Given the description of an element on the screen output the (x, y) to click on. 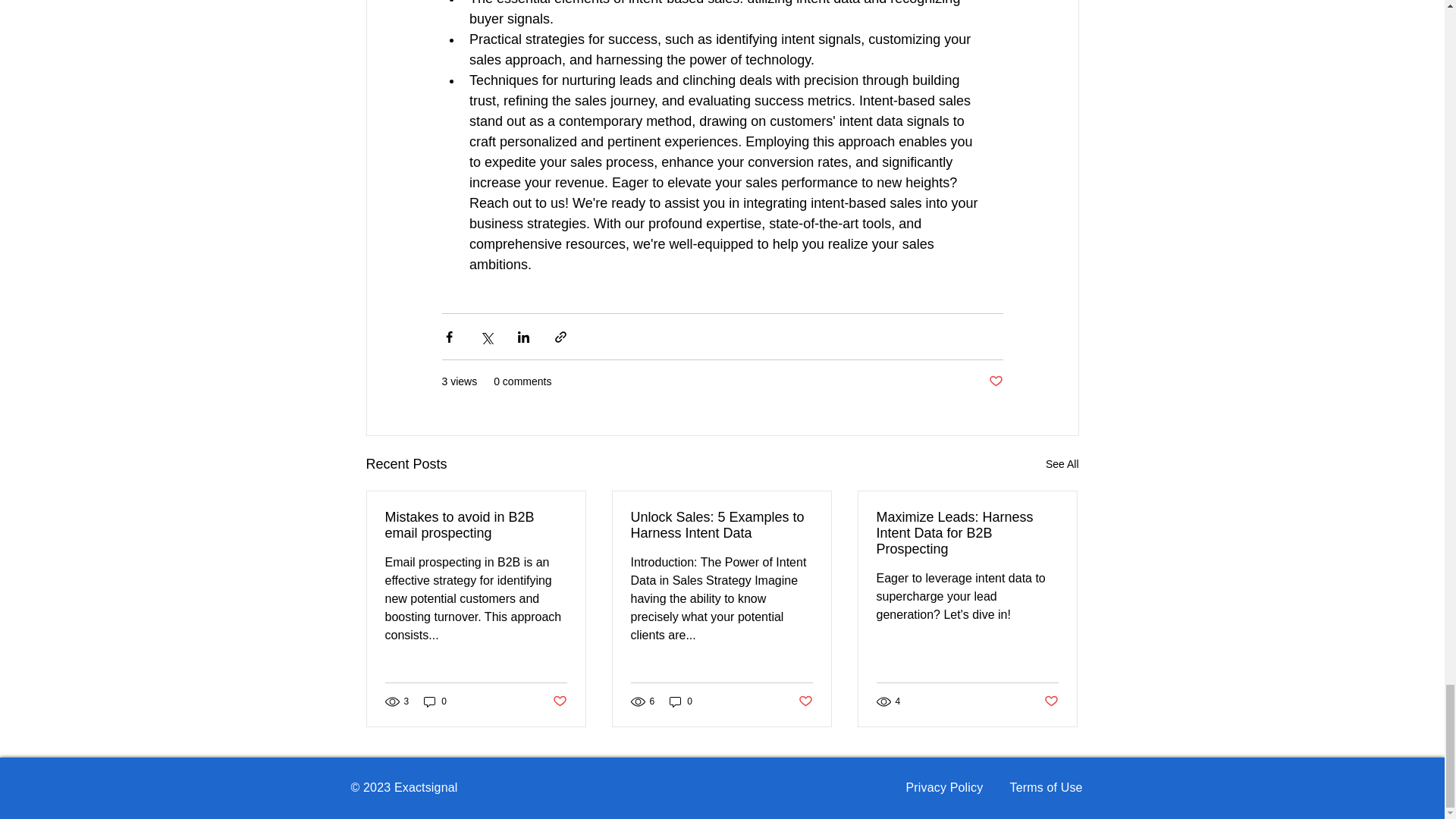
Post not marked as liked (995, 381)
Privacy Policy (943, 787)
Terms of Use (1046, 787)
0 (435, 700)
Unlock Sales: 5 Examples to Harness Intent Data (721, 525)
Post not marked as liked (1050, 701)
Maximize Leads: Harness Intent Data for B2B Prospecting (967, 533)
0 (681, 700)
Mistakes to avoid in B2B email prospecting (476, 525)
See All (1061, 464)
